Given the description of an element on the screen output the (x, y) to click on. 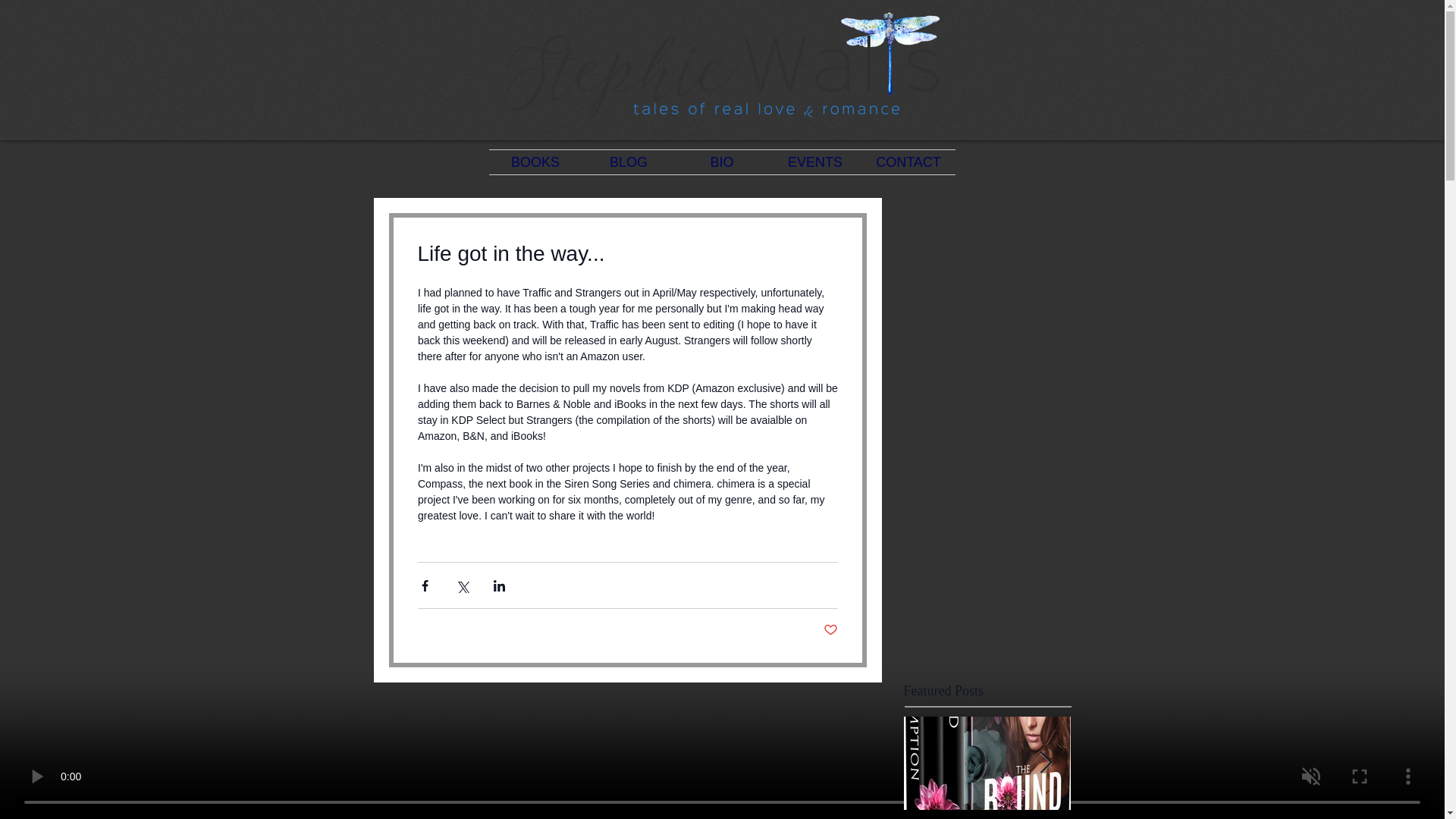
Post not marked as liked (831, 630)
